Given the description of an element on the screen output the (x, y) to click on. 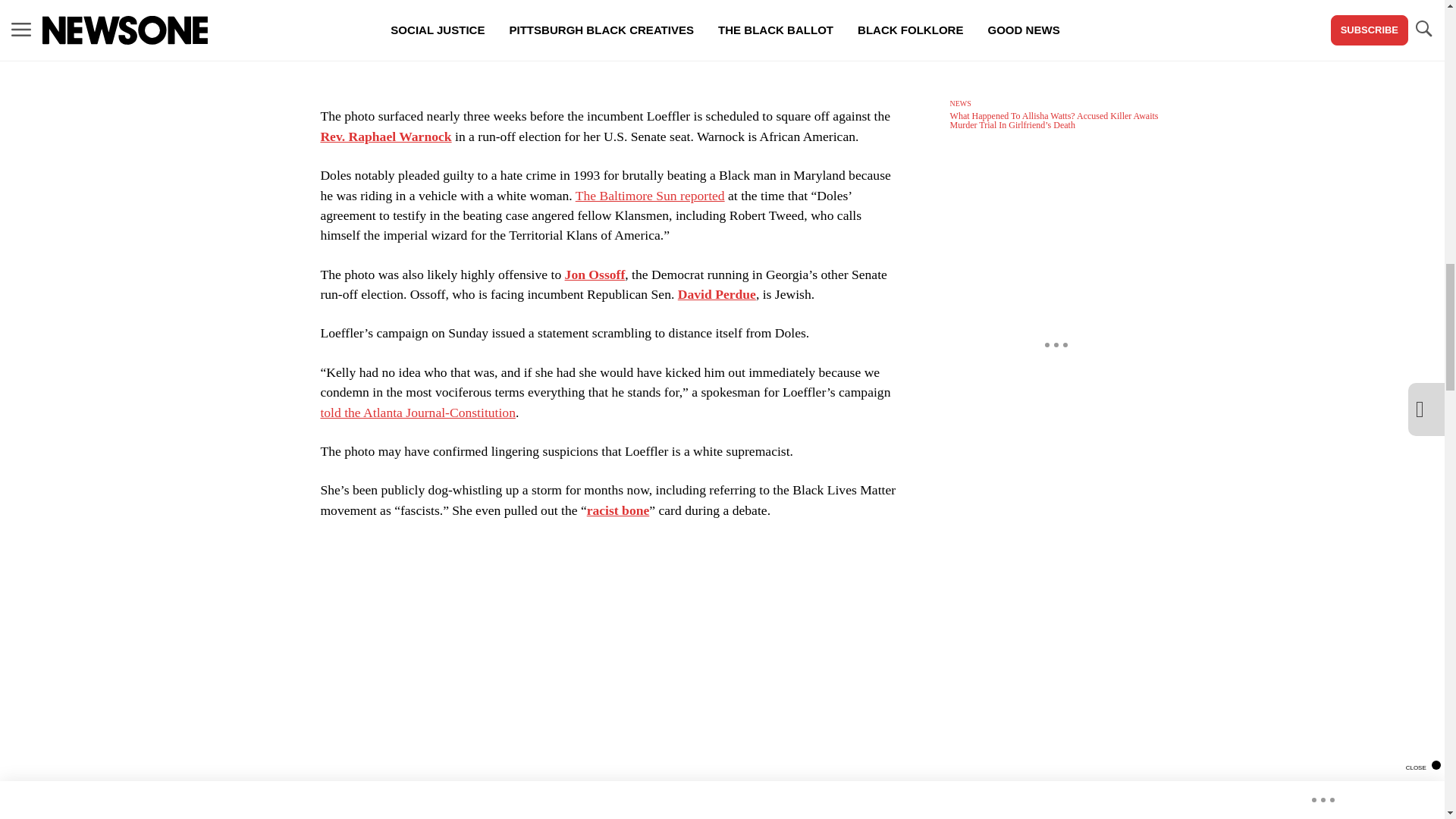
racist bone (617, 509)
David Perdue (716, 294)
The Baltimore Sun reported (650, 195)
told the Atlanta Journal-Constitution (417, 412)
Rev. Raphael Warnock (385, 136)
Jon Ossoff (595, 273)
